Given the description of an element on the screen output the (x, y) to click on. 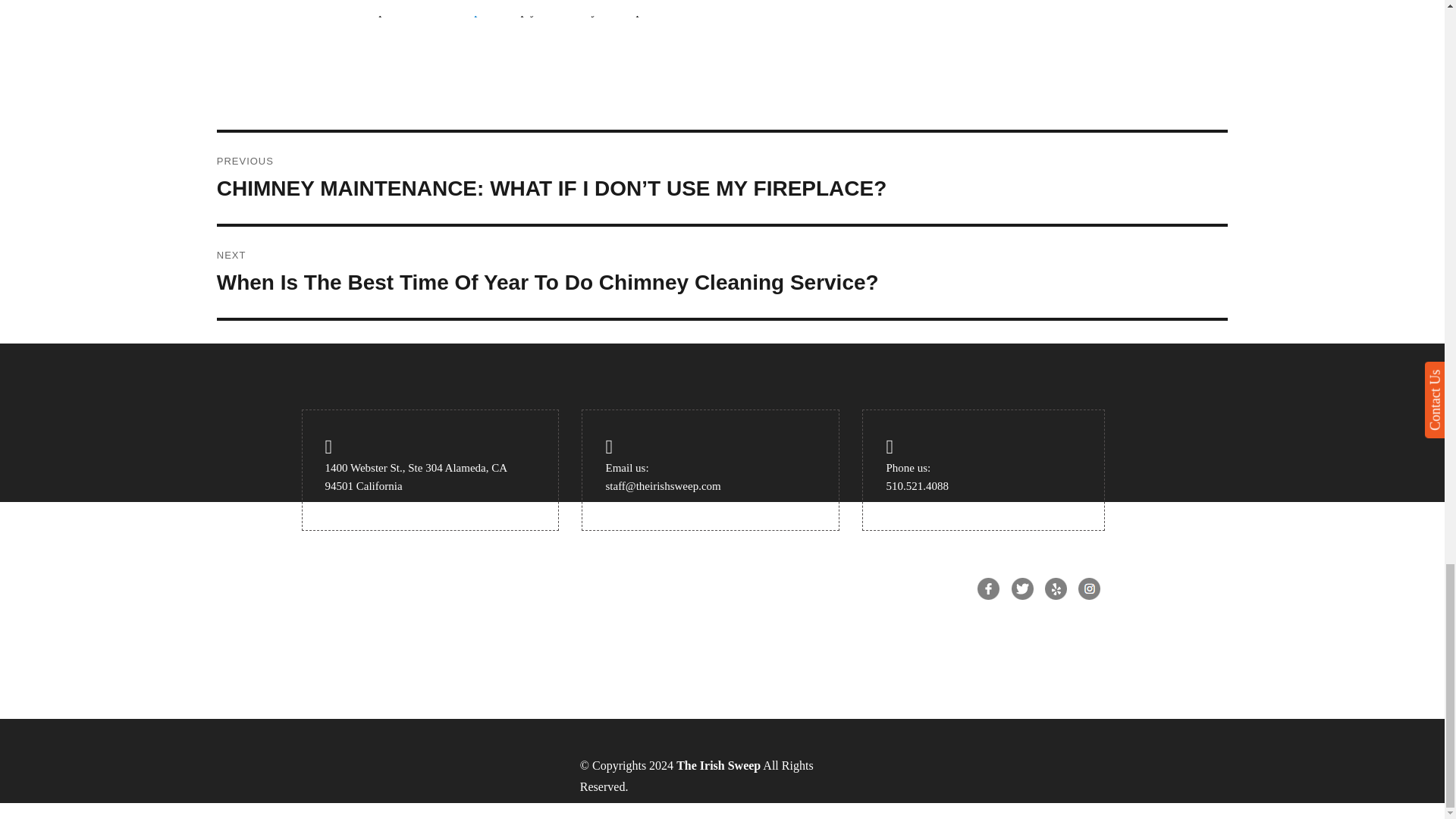
Irish Sweep (449, 10)
